Given the description of an element on the screen output the (x, y) to click on. 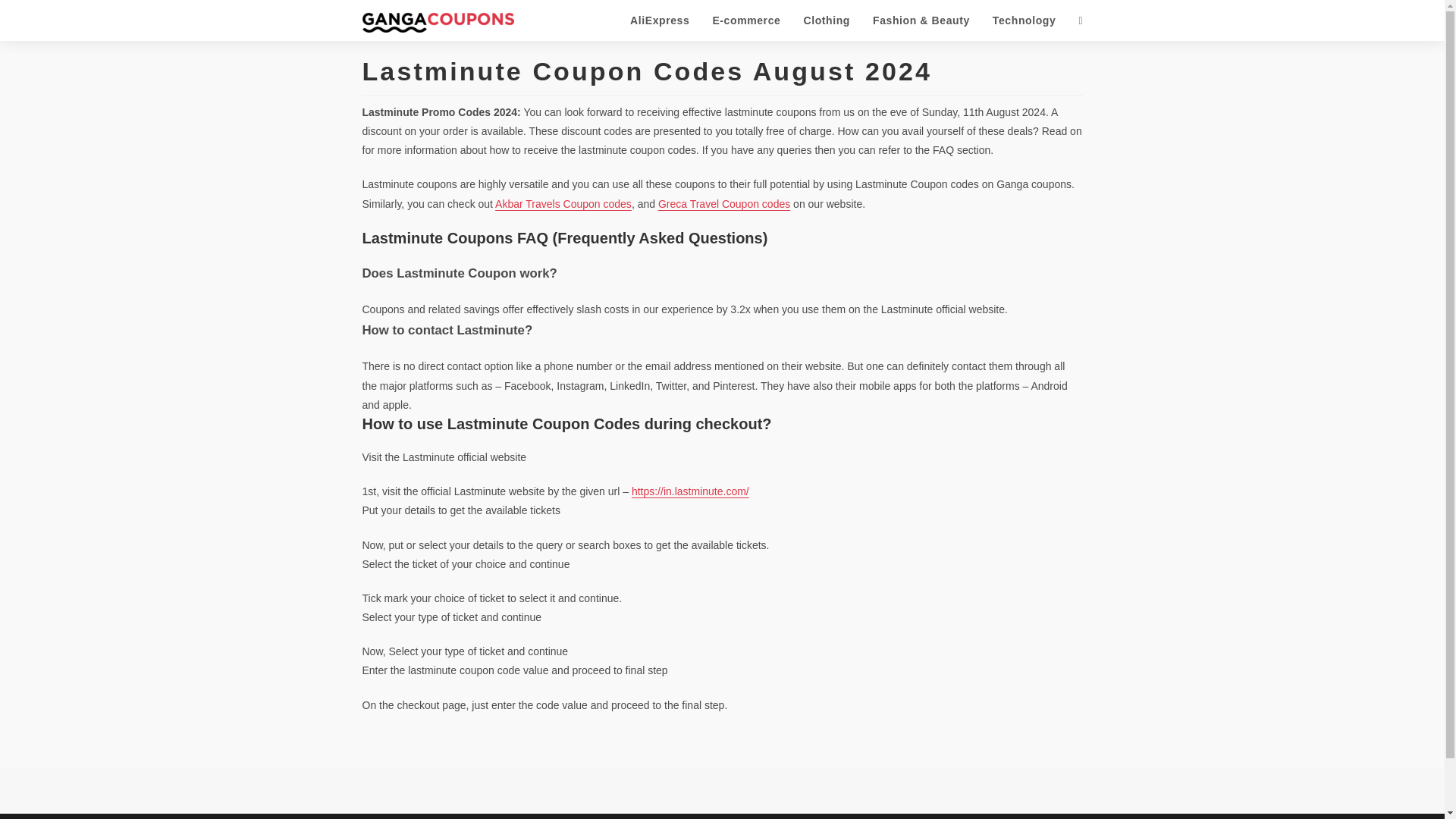
Greca Travel Coupon codes (724, 203)
AliExpress (659, 20)
Akbar Travels Coupon codes (563, 203)
Technology (1024, 20)
E-commerce (746, 20)
Clothing (826, 20)
